Given the description of an element on the screen output the (x, y) to click on. 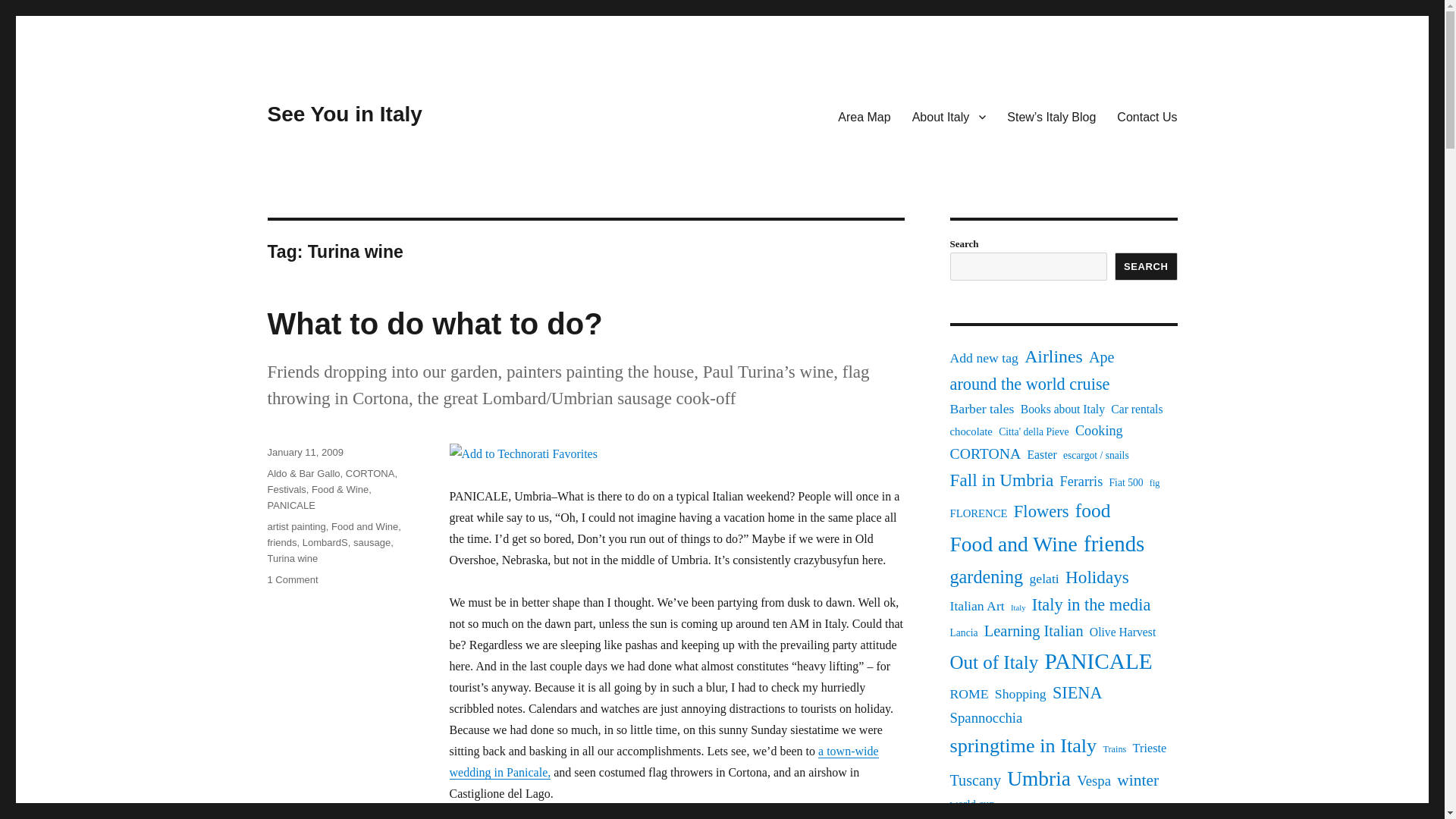
About Italy (949, 116)
Area Map (864, 116)
See You in Italy (344, 114)
